Given the description of an element on the screen output the (x, y) to click on. 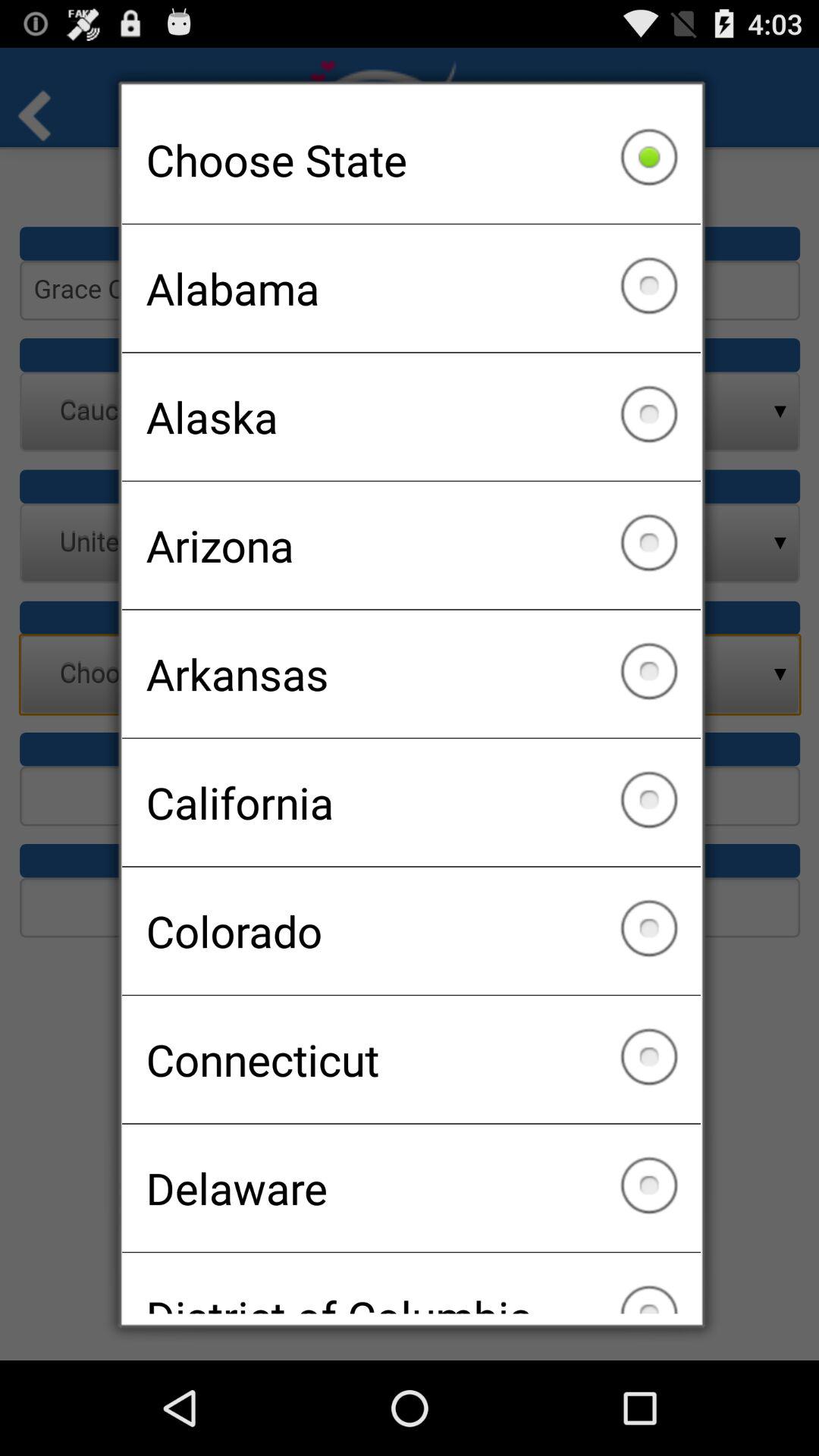
open the colorado icon (411, 930)
